Given the description of an element on the screen output the (x, y) to click on. 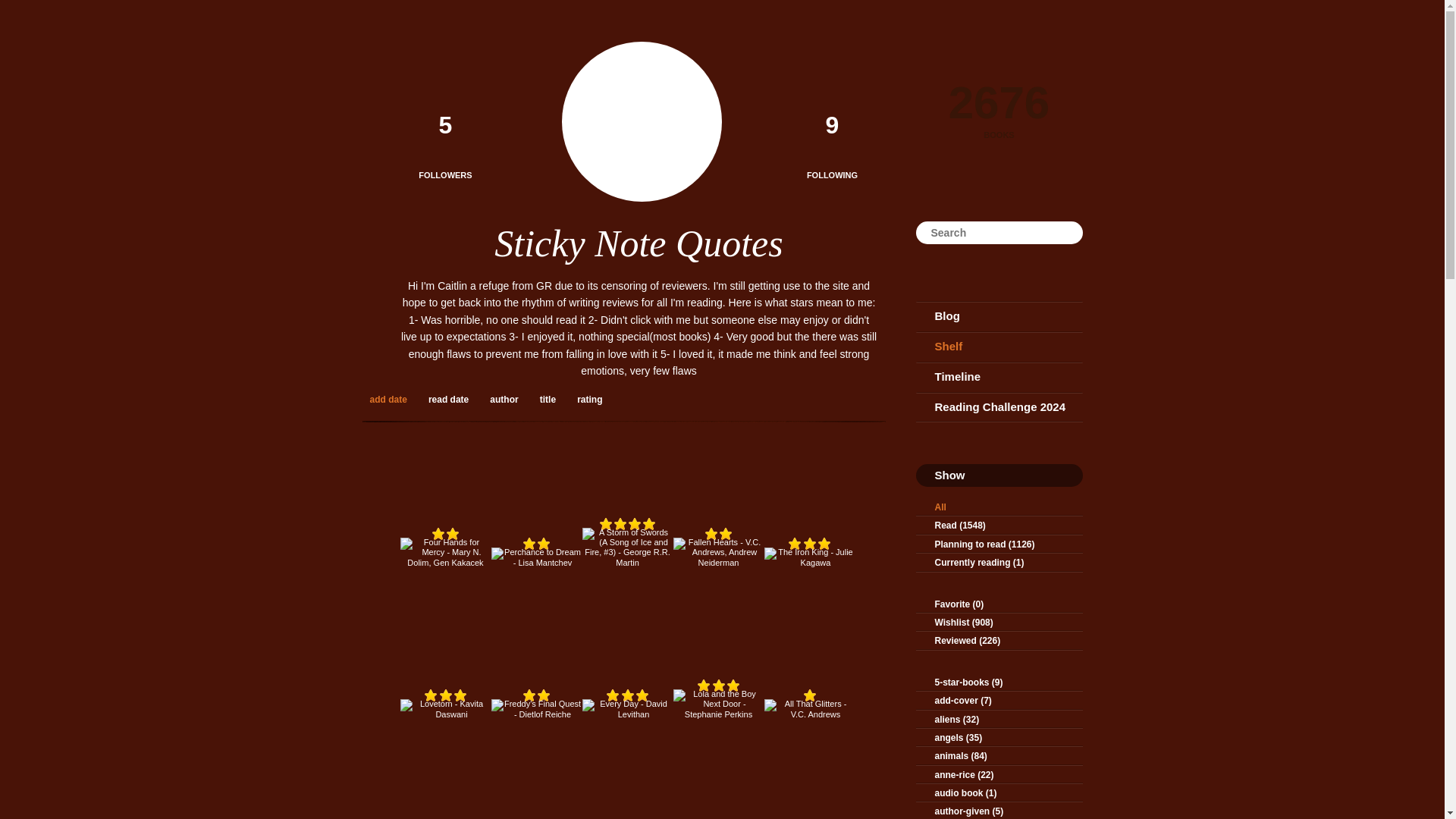
2676 (999, 97)
title (549, 398)
BOOKS (999, 135)
author (505, 398)
read date (450, 398)
Sticky Note Quotes (639, 242)
add date (390, 398)
rating (590, 398)
